Given the description of an element on the screen output the (x, y) to click on. 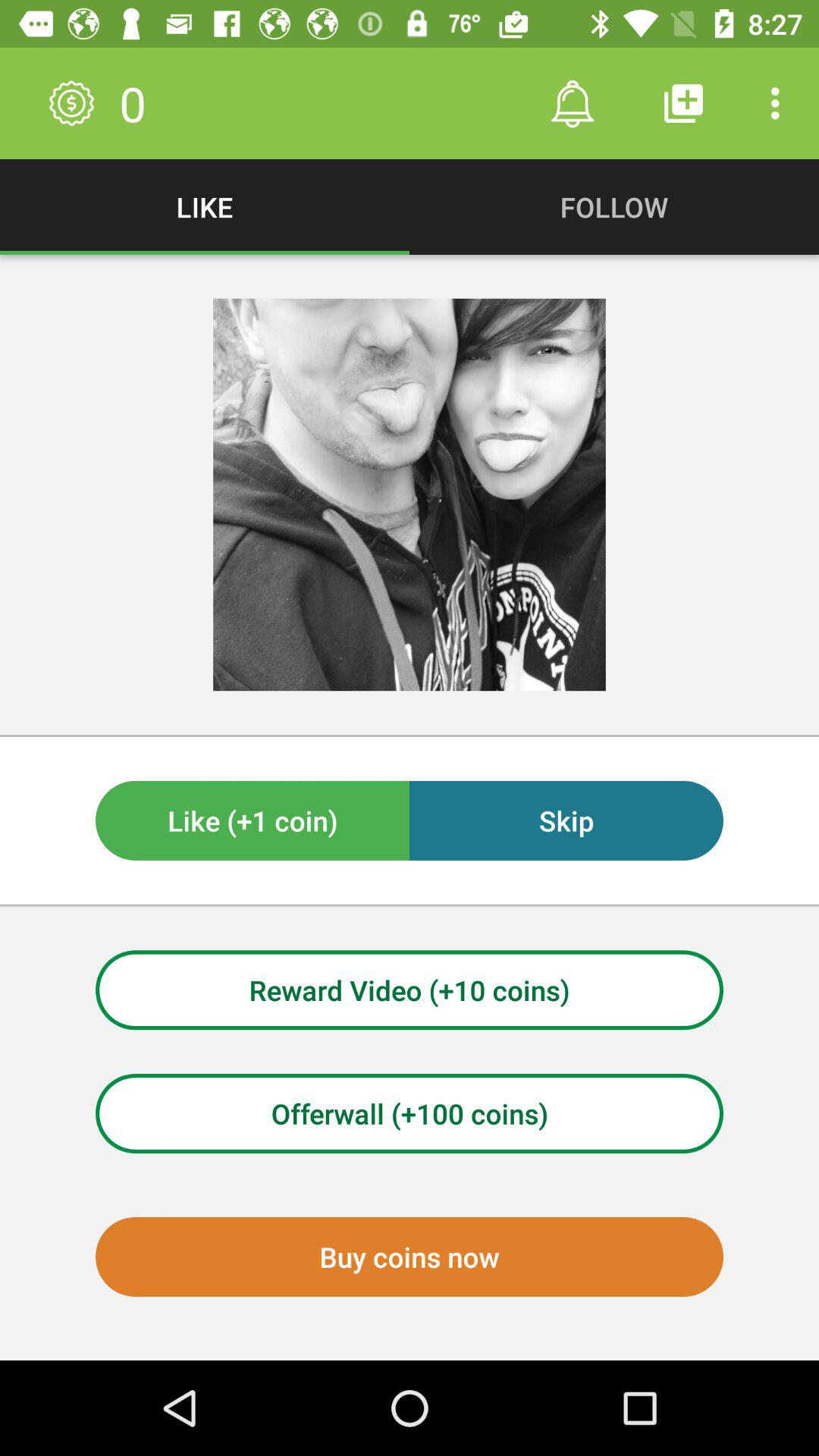
select the icon to the left of the skip (252, 820)
